Given the description of an element on the screen output the (x, y) to click on. 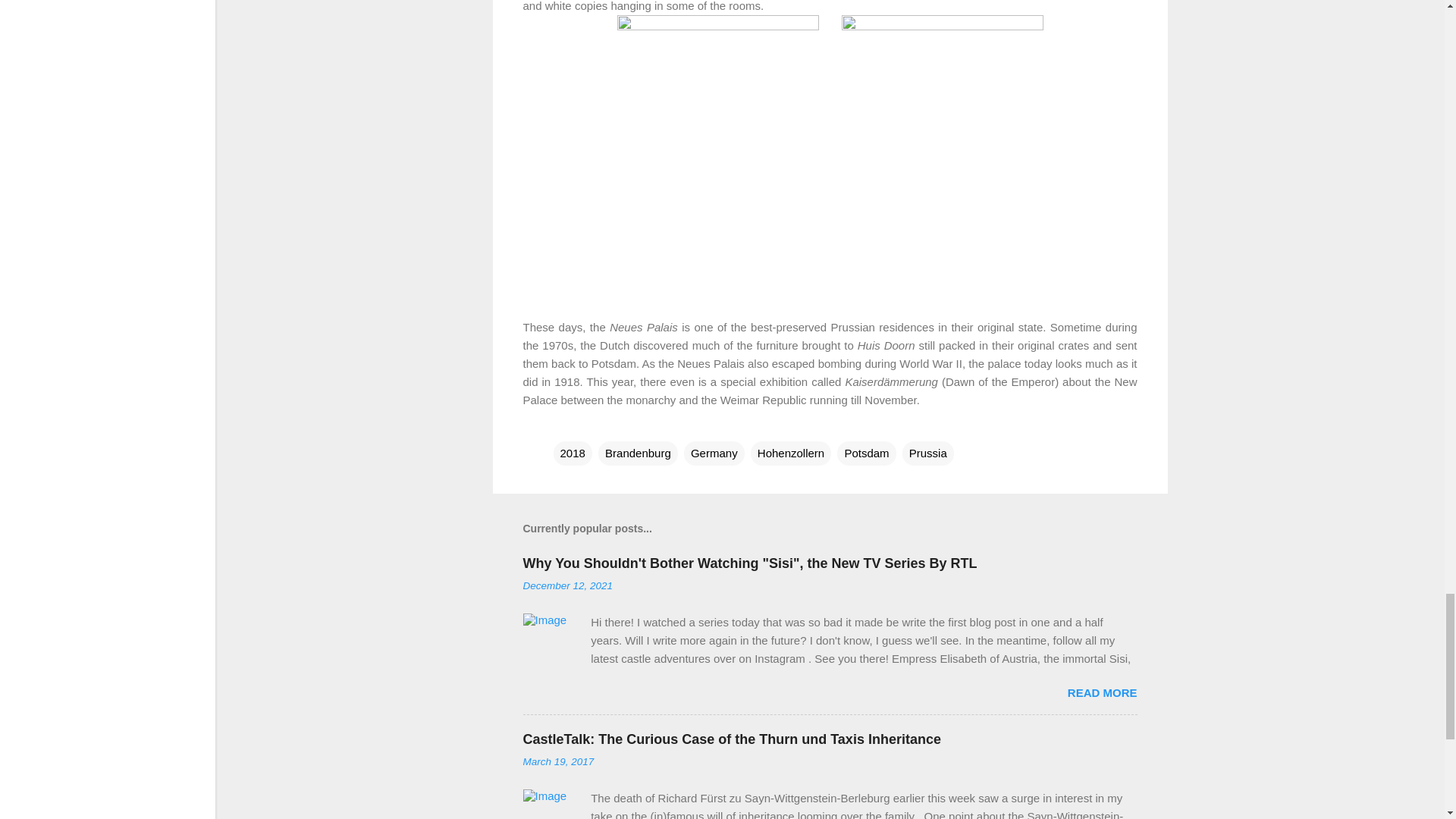
Germany (714, 453)
Prussia (927, 453)
Brandenburg (638, 453)
2018 (572, 453)
December 12, 2021 (567, 585)
permanent link (567, 585)
Hohenzollern (791, 453)
Potsdam (866, 453)
